Given the description of an element on the screen output the (x, y) to click on. 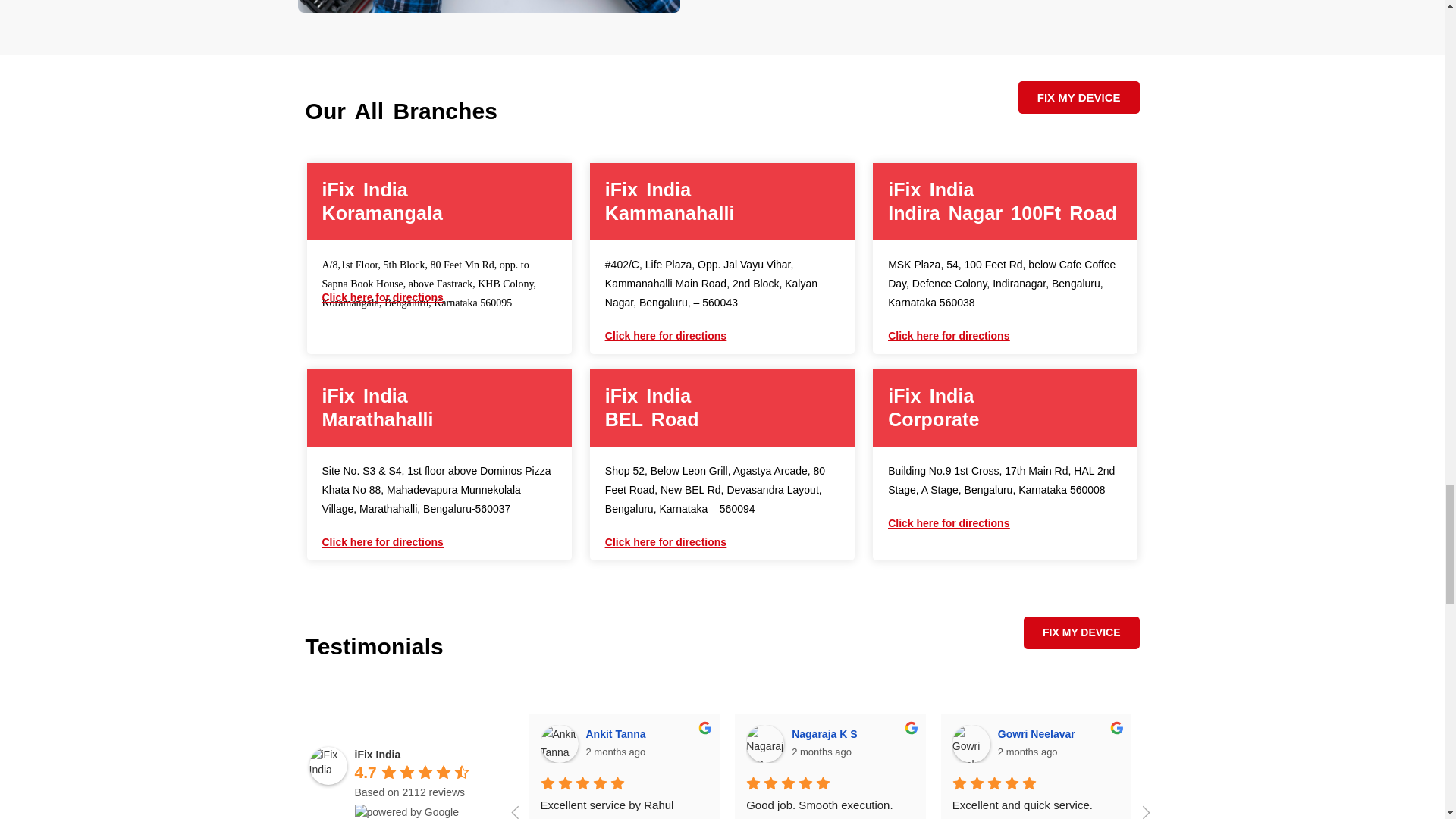
FIX MY DEVICE (1078, 97)
Click here for directions (665, 335)
powered by Google (406, 811)
Gowri Neelavar (971, 743)
Vijay Kunnath (1176, 743)
Ankit Tanna (559, 743)
Click here for directions (948, 335)
Click here for directions (381, 296)
iFix India (327, 765)
Nagaraja K S (764, 743)
